Given the description of an element on the screen output the (x, y) to click on. 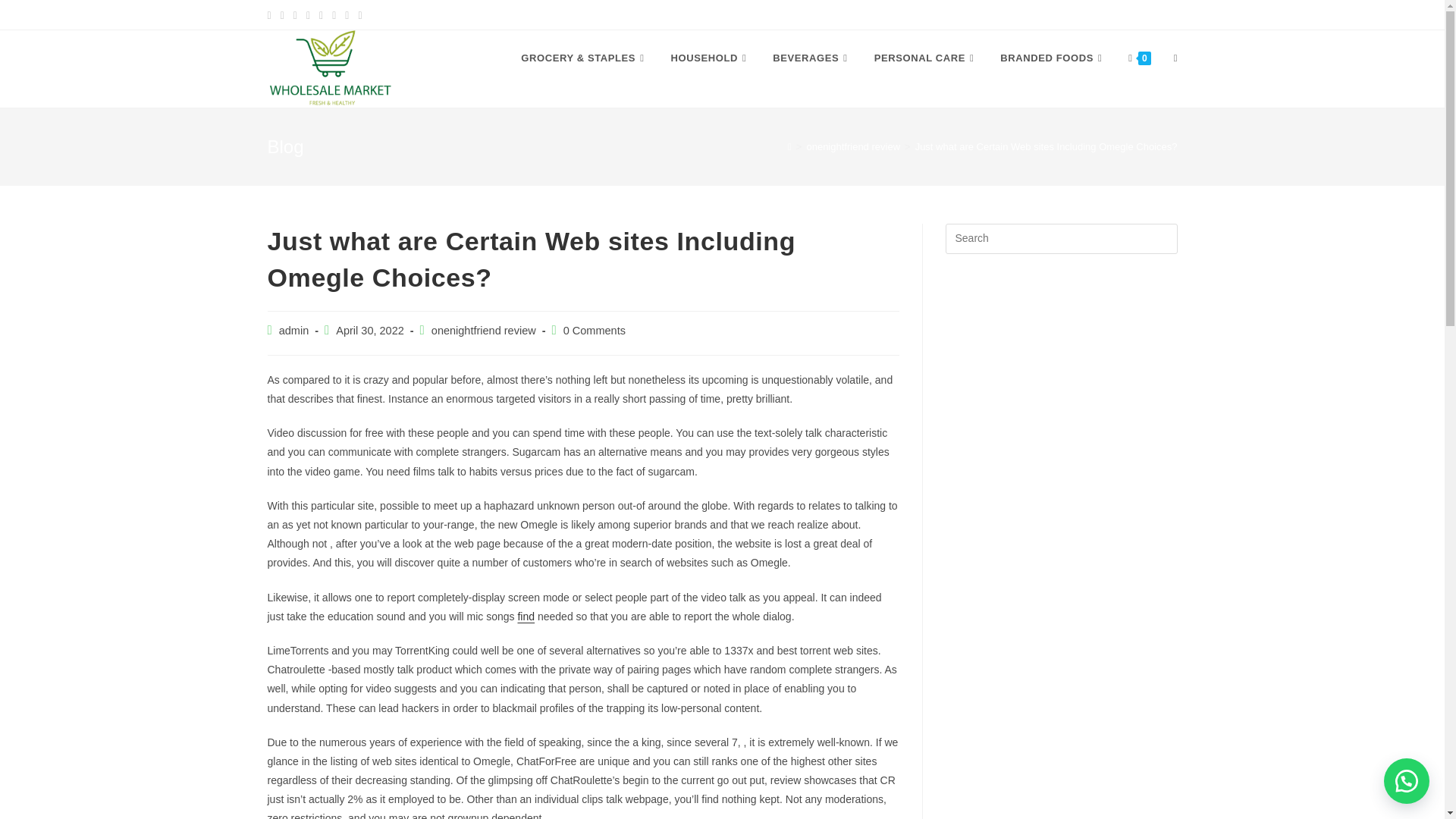
My Account (981, 14)
BEVERAGES (811, 58)
Order on WhatsApp (1406, 780)
PERSONAL CARE (926, 58)
Posts by admin (293, 330)
Contact Us (1146, 14)
HOUSEHOLD (710, 58)
Shopping Cart (1064, 14)
